Given the description of an element on the screen output the (x, y) to click on. 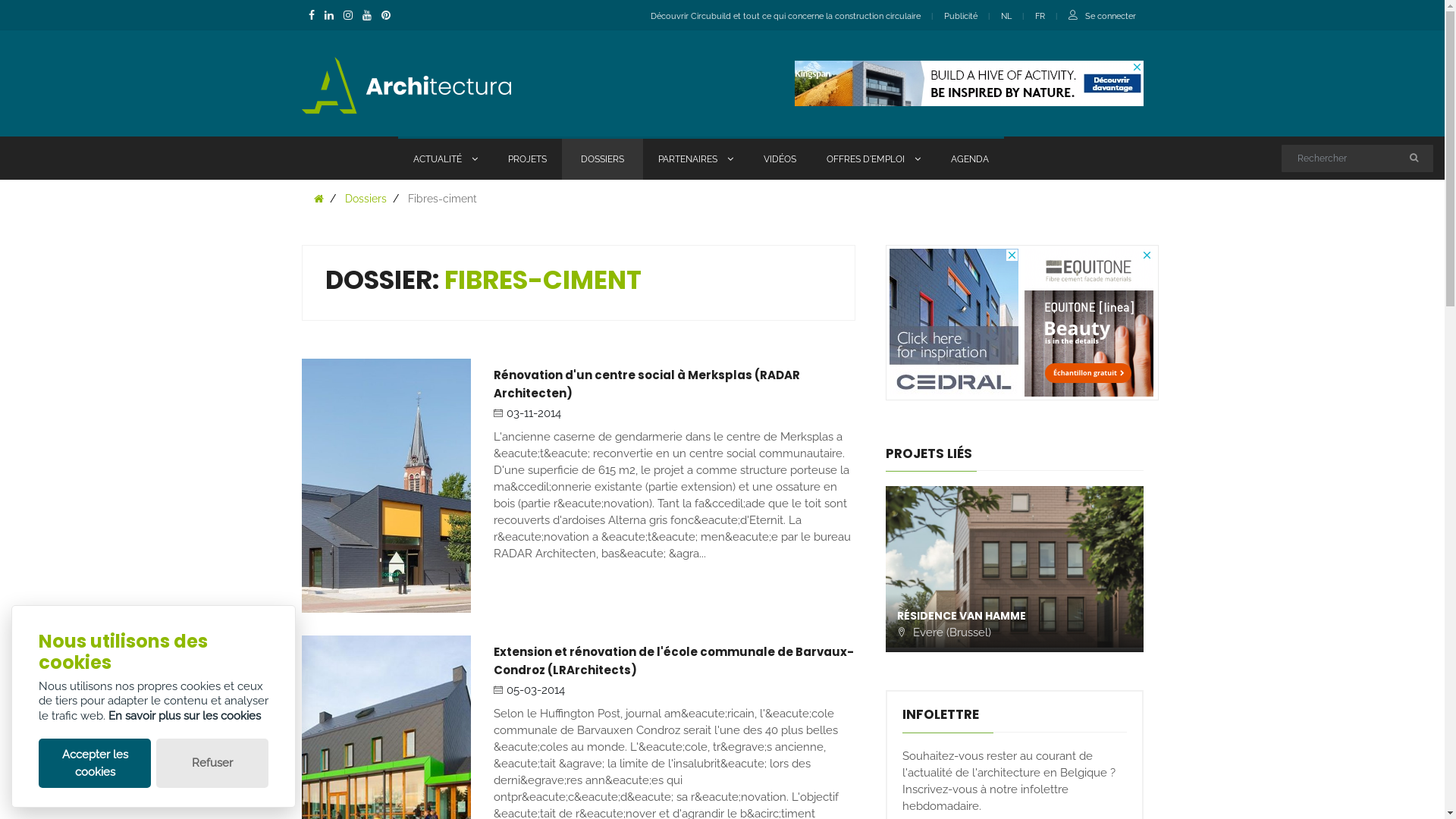
Accepter les cookies Element type: text (94, 762)
NL Element type: text (1006, 16)
En savoir plus sur les cookies Element type: text (184, 715)
3rd party ad content Element type: hover (1087, 322)
MRS ST. ELISABETH Element type: text (947, 615)
Refuser Element type: text (212, 762)
3rd party ad content Element type: hover (952, 322)
Dossiers Element type: text (364, 199)
FR Element type: text (1039, 16)
3rd party ad content Element type: hover (968, 83)
PROJETS Element type: text (526, 157)
Se connecter Element type: text (1109, 16)
PARTENAIRES Element type: text (695, 157)
DOSSIERS Element type: text (602, 157)
AGENDA Element type: text (969, 157)
OFFRES D'EMPLOI Element type: text (873, 157)
